Given the description of an element on the screen output the (x, y) to click on. 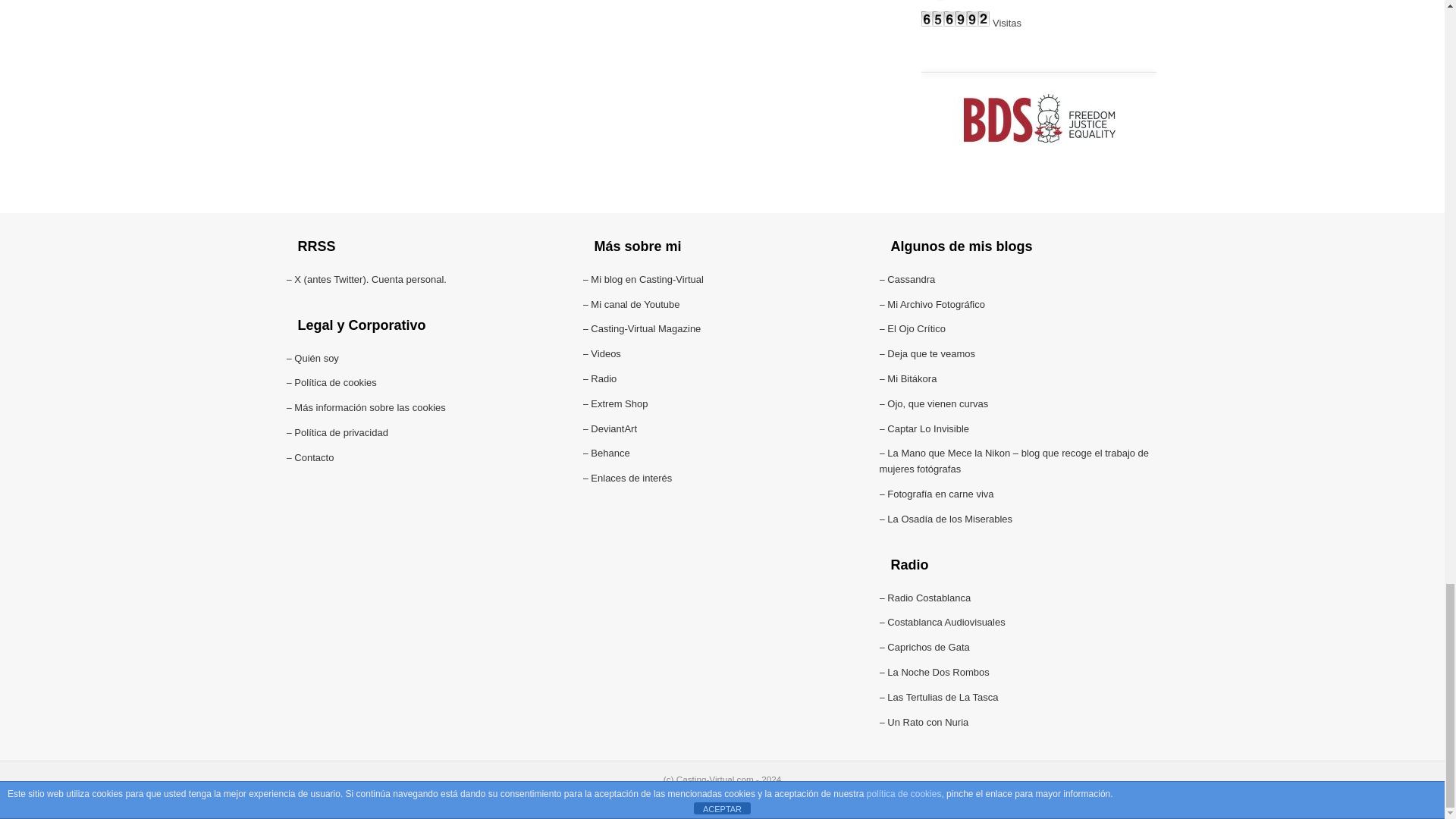
contador de visitas (955, 22)
